Given the description of an element on the screen output the (x, y) to click on. 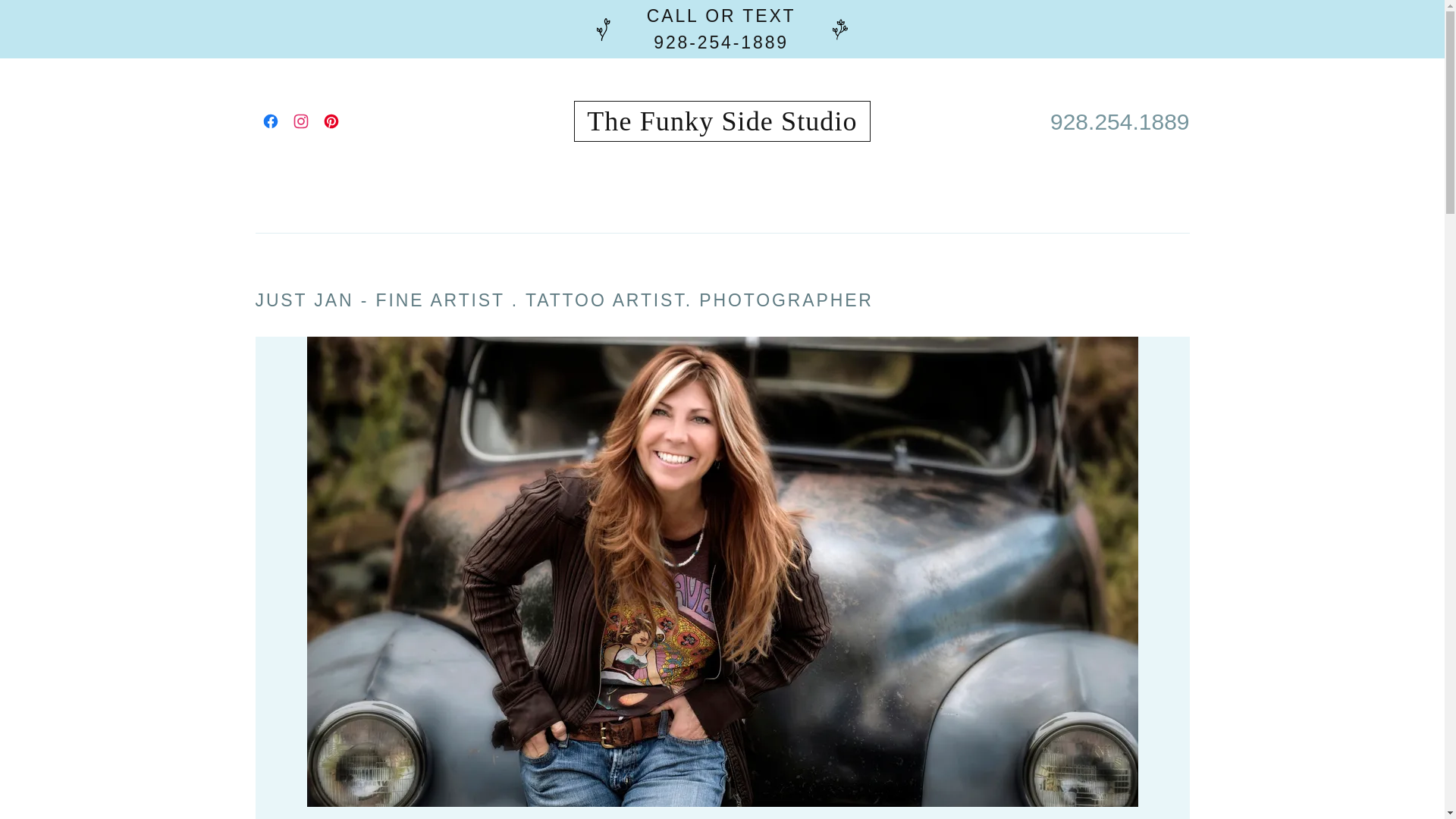
928.254.1889 (1119, 121)
The Funky Side Studio (721, 124)
The Funky Side Studio (721, 124)
